Given the description of an element on the screen output the (x, y) to click on. 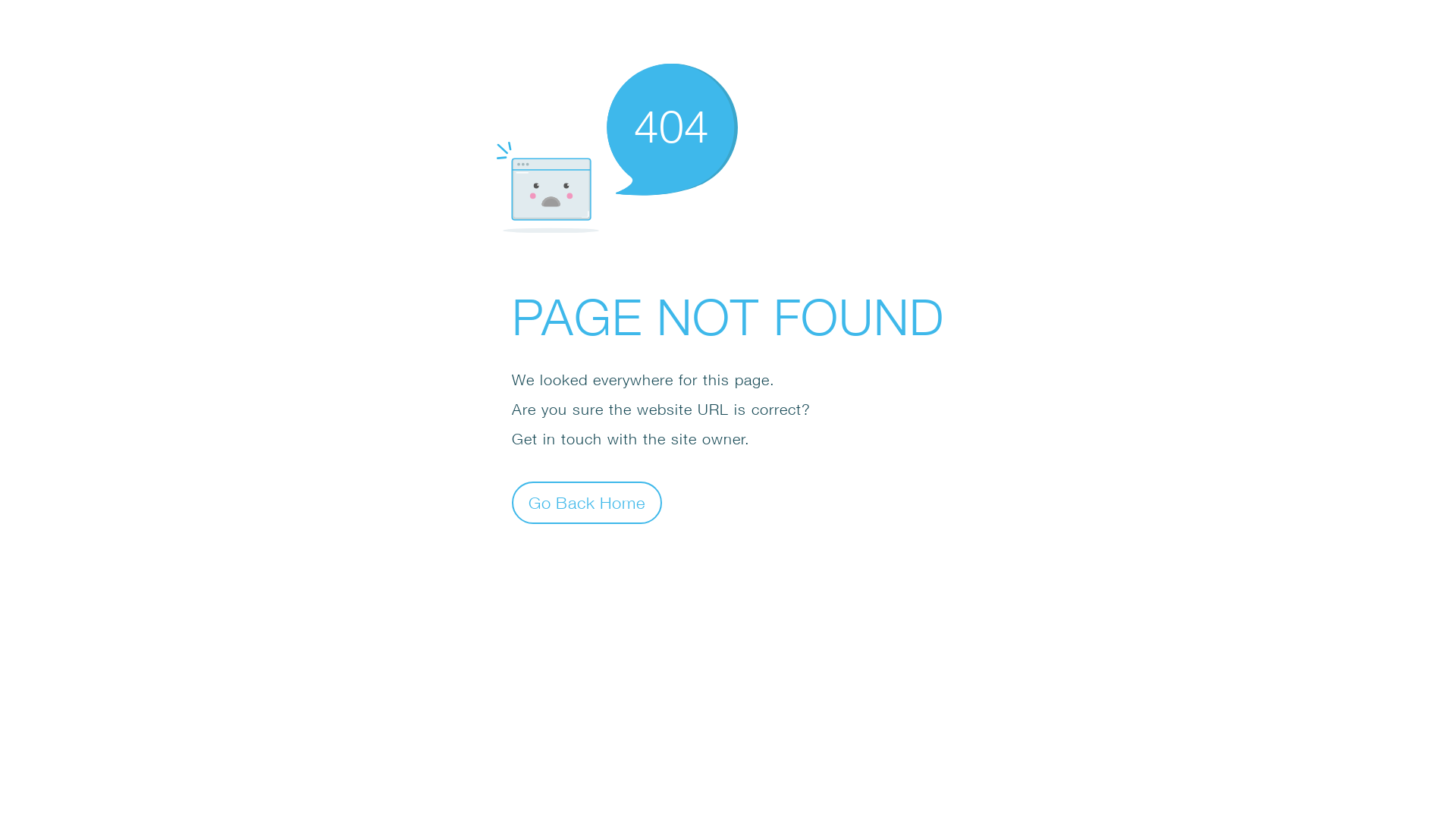
Go Back Home Element type: text (586, 502)
